Given the description of an element on the screen output the (x, y) to click on. 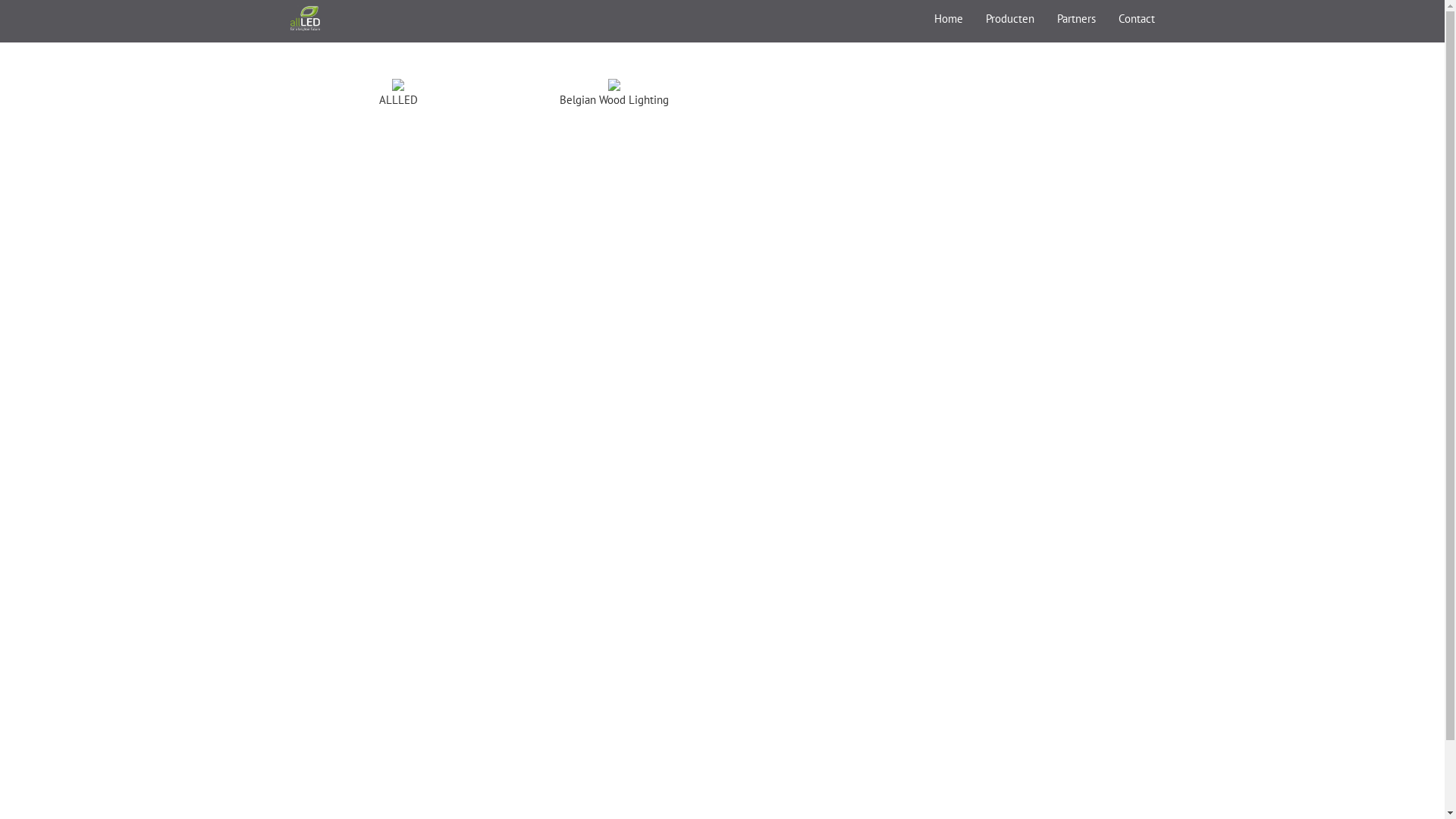
ALLLED Element type: hover (305, 18)
Partners Element type: text (1075, 18)
Belgian Wood Lighting Element type: hover (614, 83)
Contact Element type: text (1136, 18)
ALLLED Element type: hover (398, 83)
Home Element type: text (947, 18)
Producten Element type: text (1008, 18)
